Given the description of an element on the screen output the (x, y) to click on. 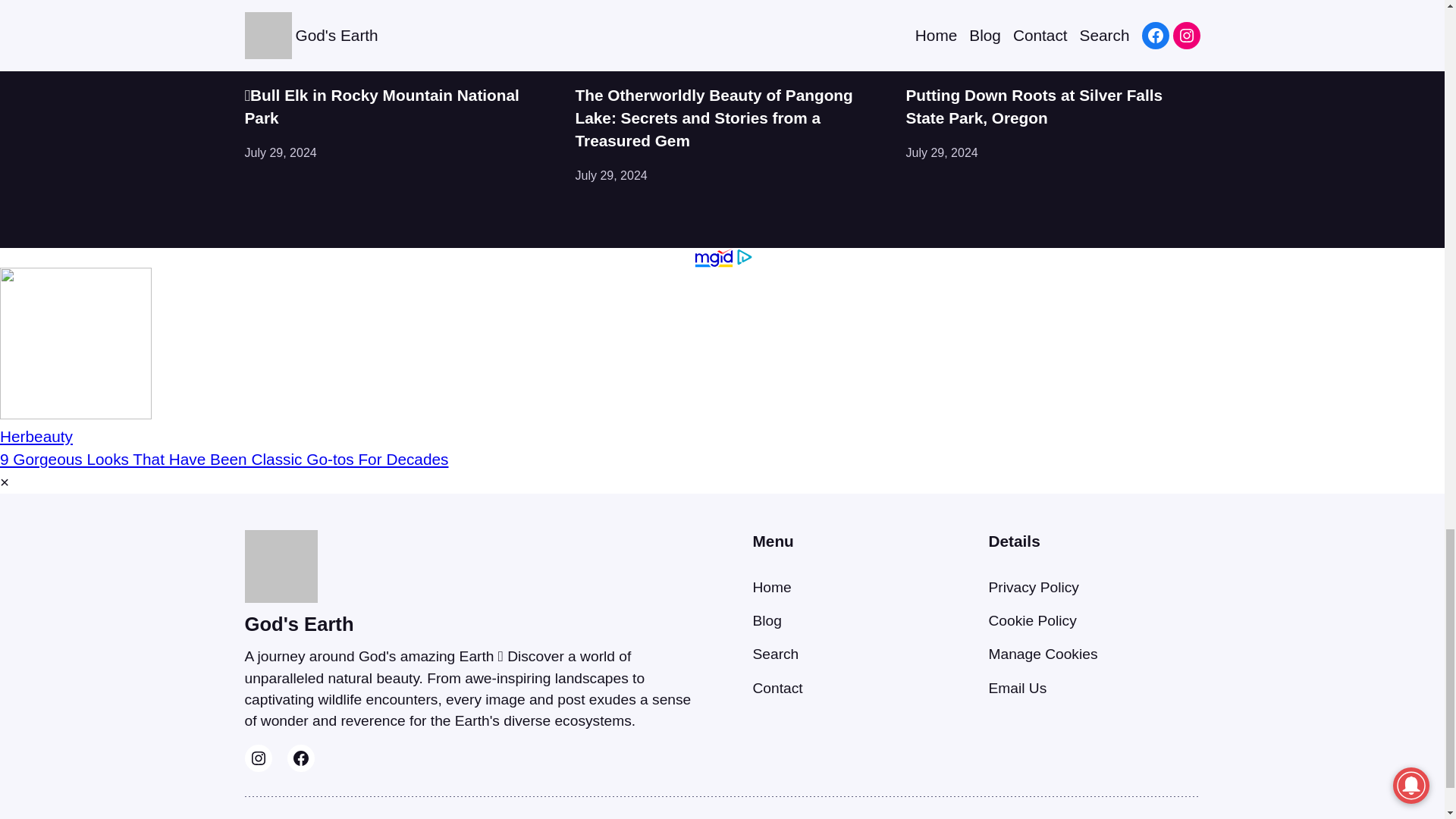
Facebook (300, 758)
Contact (777, 688)
Privacy Policy (1033, 587)
Email Us (1017, 688)
Manage Cookies (1042, 653)
Home (771, 587)
God's Earth (298, 623)
Blog (766, 620)
Earth (919, 65)
